Given the description of an element on the screen output the (x, y) to click on. 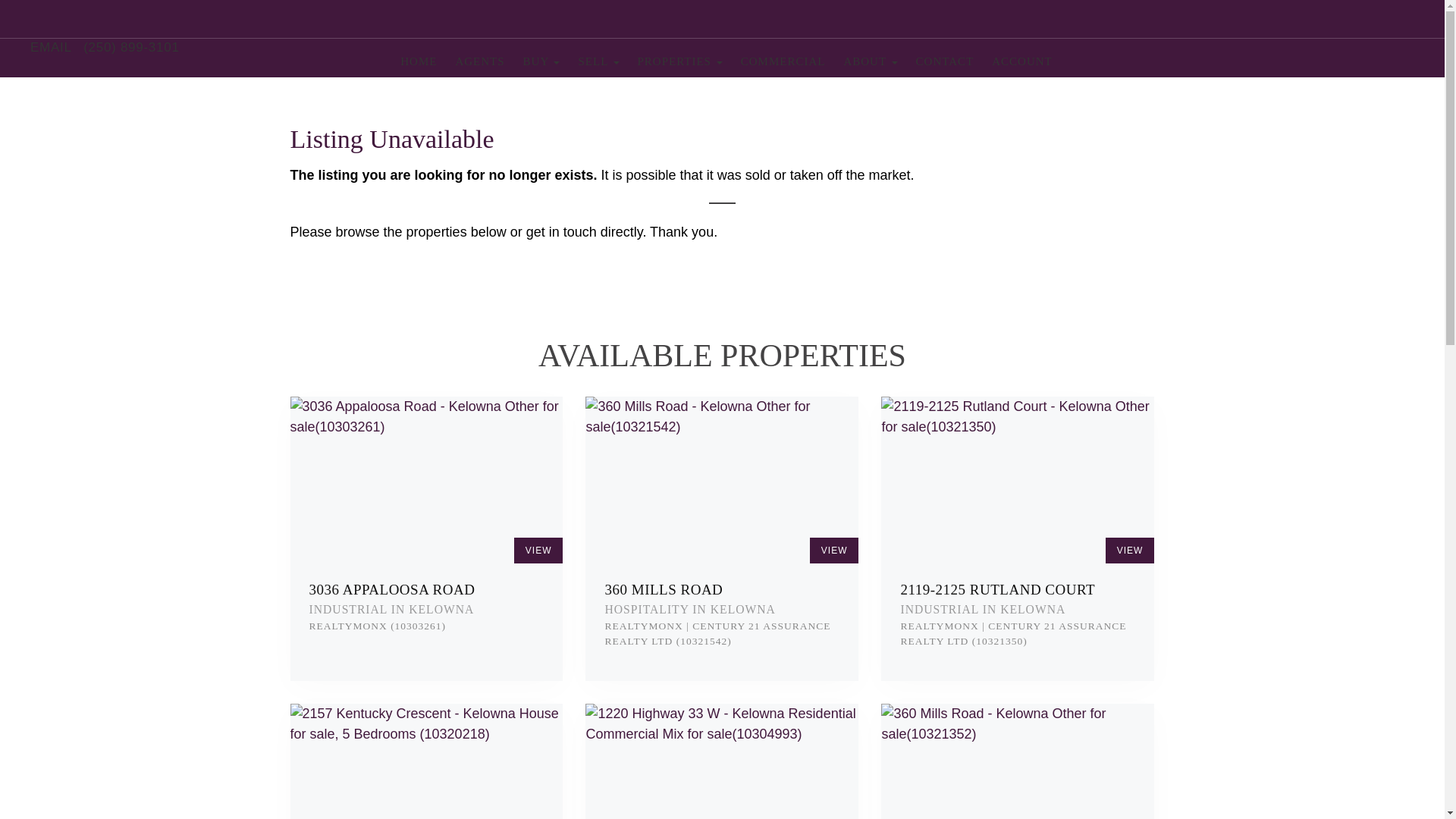
HOME (418, 60)
ABOUT (869, 60)
ACCOUNT (1017, 60)
COMMERCIAL (783, 60)
PROPERTIES (680, 60)
CONTACT (945, 60)
SELL (598, 60)
AGENTS (479, 60)
BUY (541, 60)
EMAIL (50, 47)
